Given the description of an element on the screen output the (x, y) to click on. 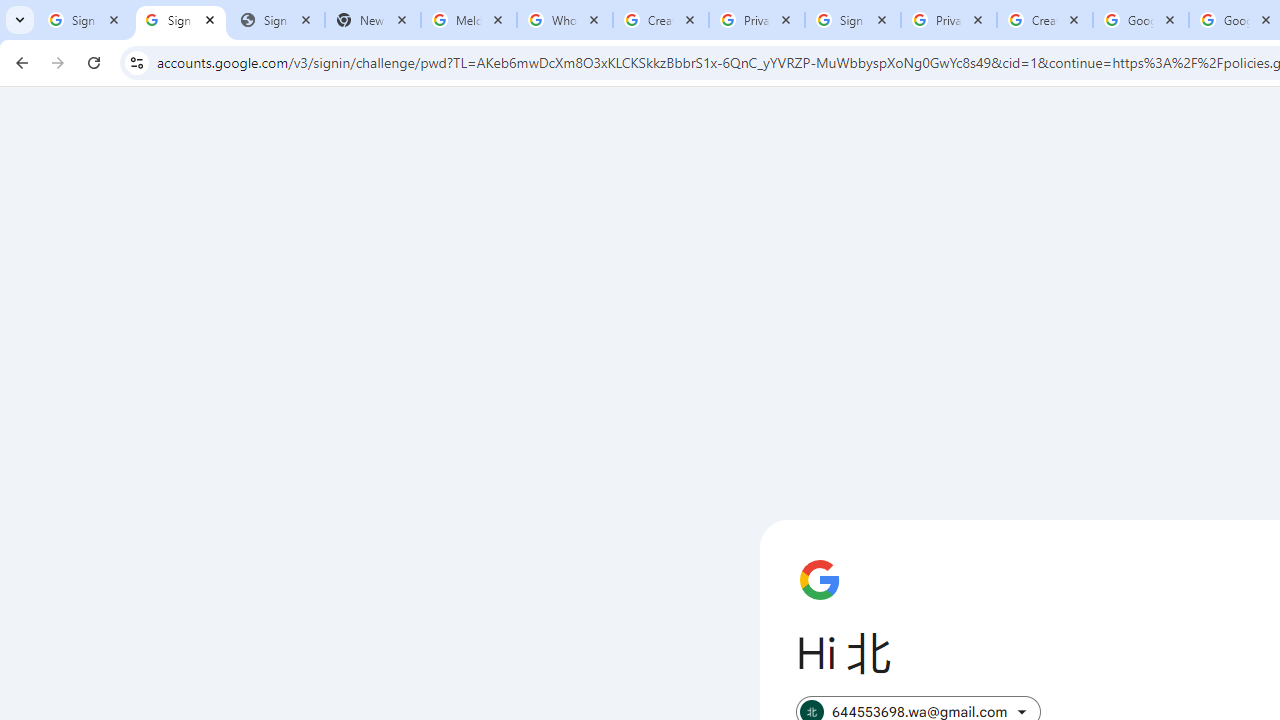
Sign in - Google Accounts (85, 20)
Sign in - Google Accounts (853, 20)
Create your Google Account (1045, 20)
